Given the description of an element on the screen output the (x, y) to click on. 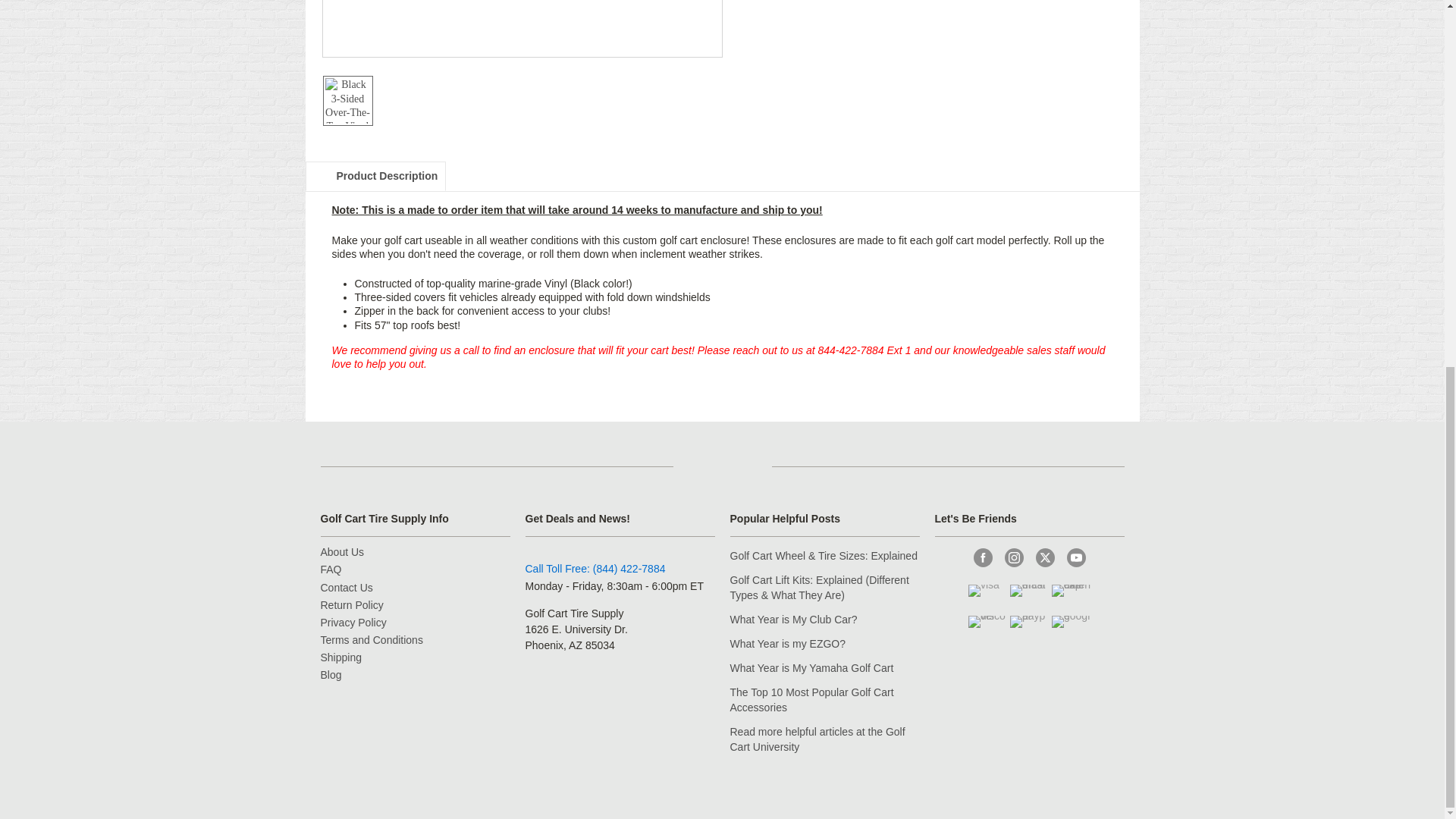
Instagram (1013, 557)
Facebook (983, 557)
Twitter (1044, 557)
Youtube (1074, 557)
